Given the description of an element on the screen output the (x, y) to click on. 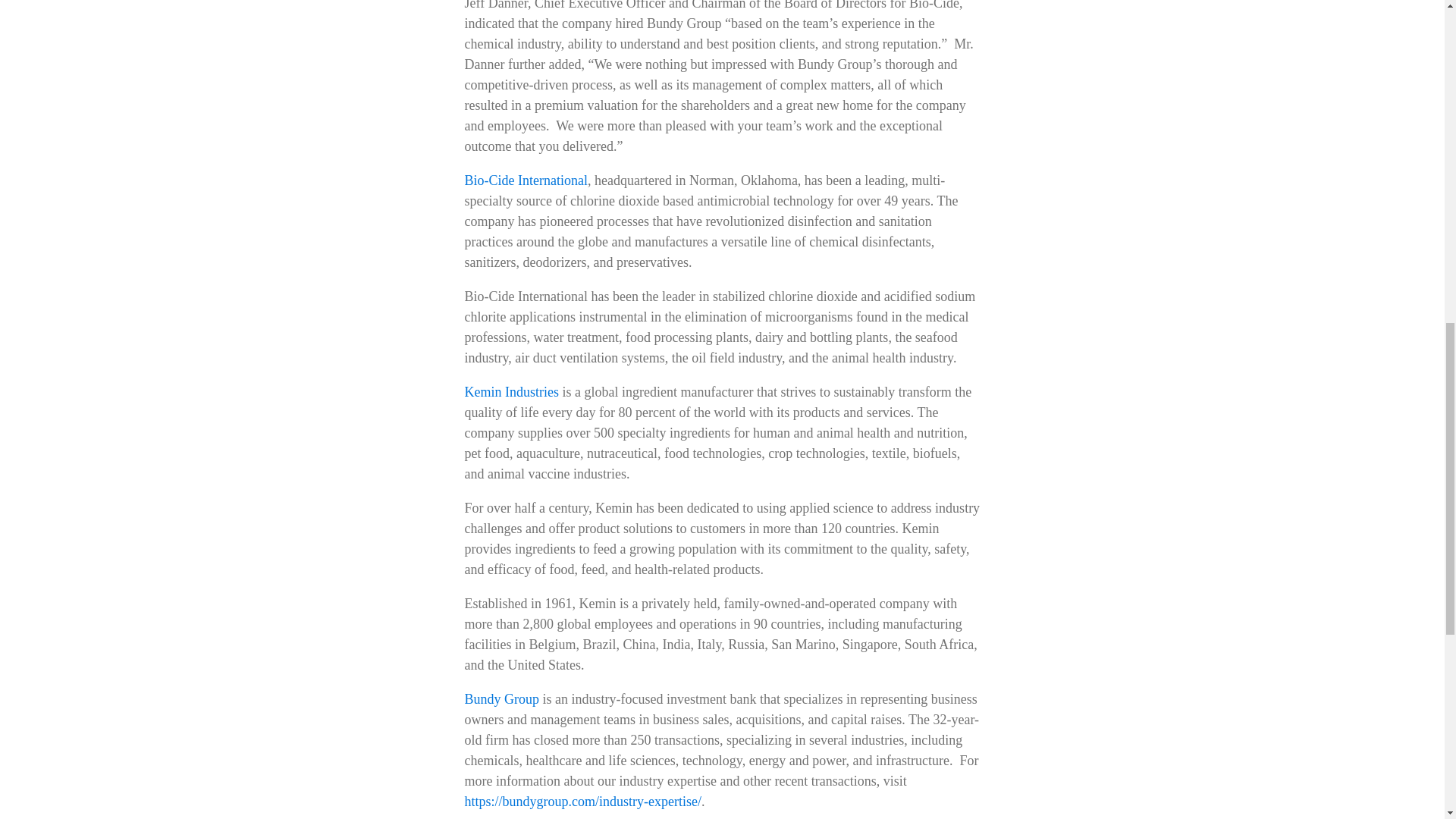
Bio-Cide International (525, 180)
Kemin Industries (510, 391)
Bundy Group (501, 698)
